Given the description of an element on the screen output the (x, y) to click on. 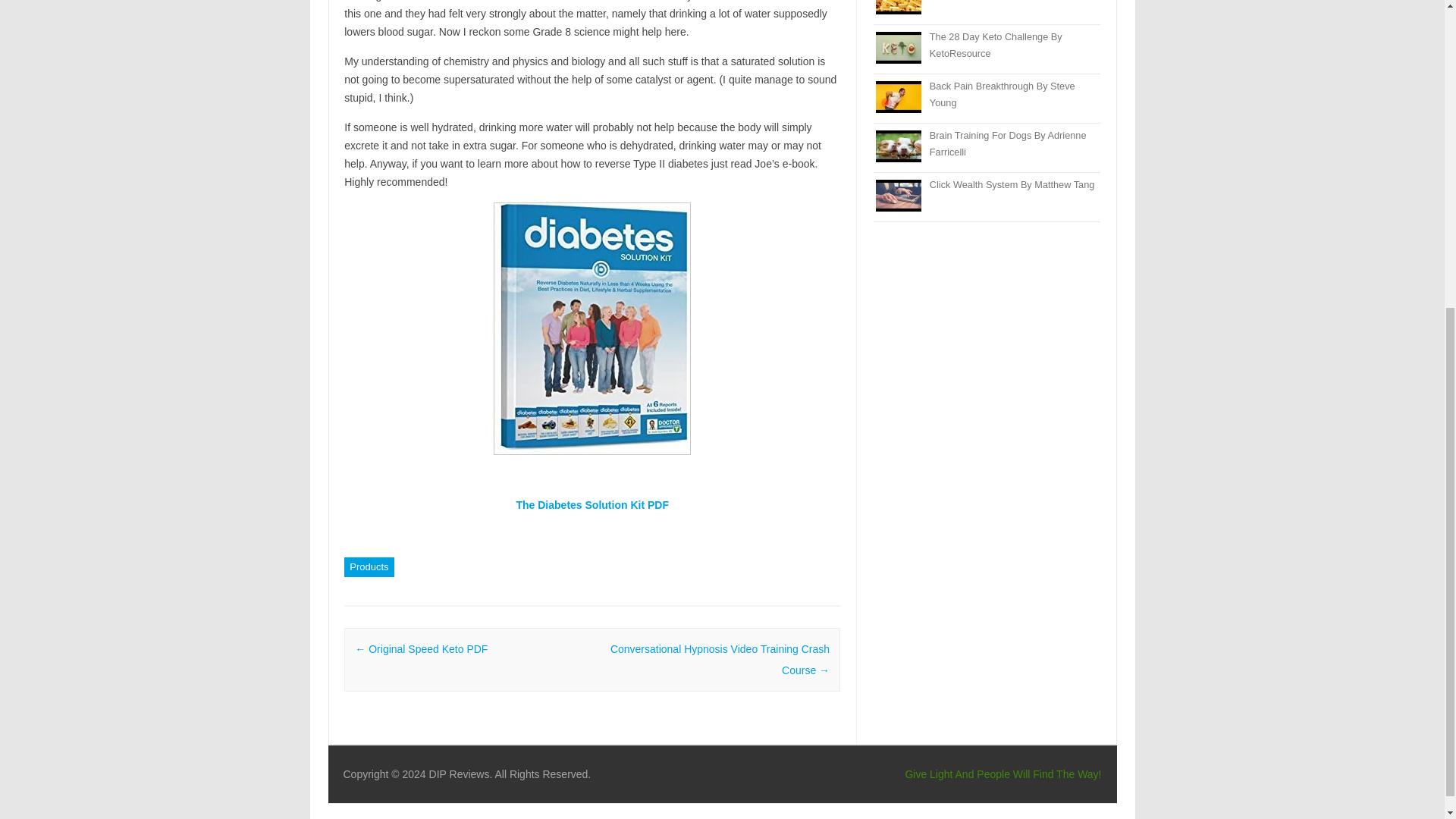
Back Pain Breakthrough By Steve Young (1002, 94)
The 28 Day Keto Challenge By KetoResource (996, 44)
Click Wealth System By Matthew Tang (1012, 184)
dbtsslk (591, 328)
The Diabetes Solution Kit PDF (591, 504)
Products (368, 567)
dbtsslk (591, 504)
Brain Training For Dogs By Adrienne Farricelli (1008, 143)
